Given the description of an element on the screen output the (x, y) to click on. 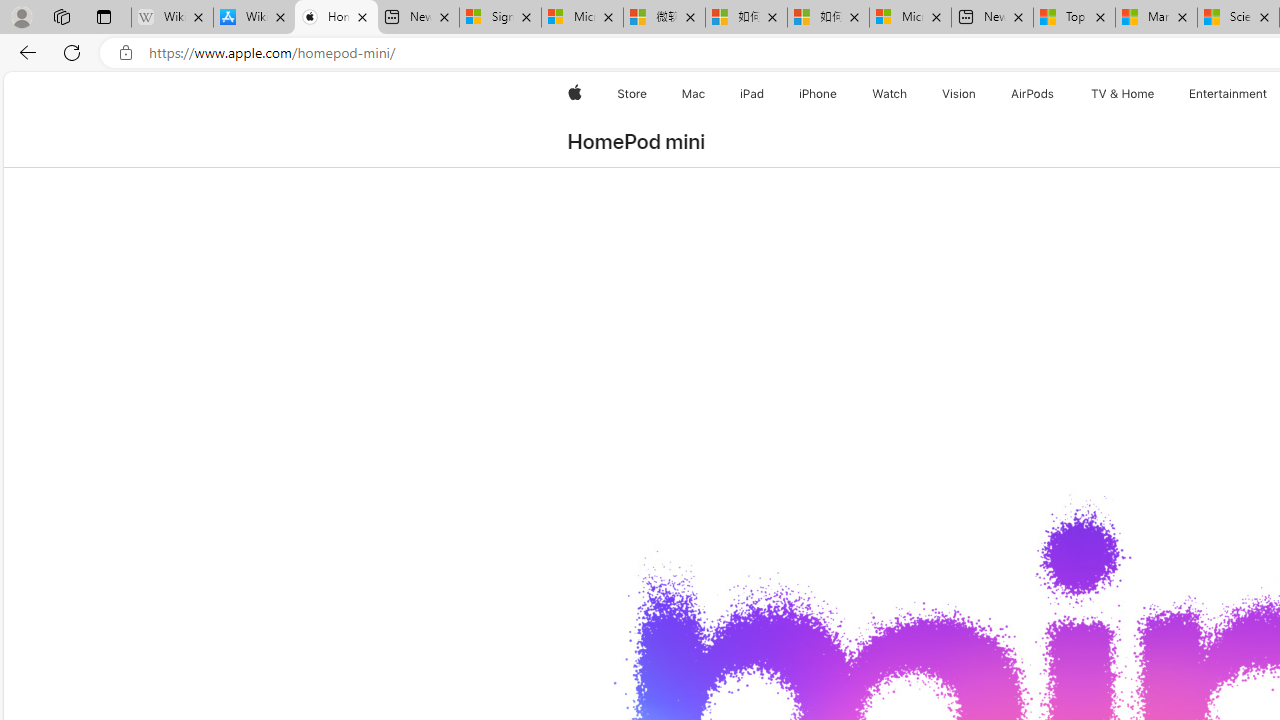
AirPods (1032, 93)
iPhone (818, 93)
